Given the description of an element on the screen output the (x, y) to click on. 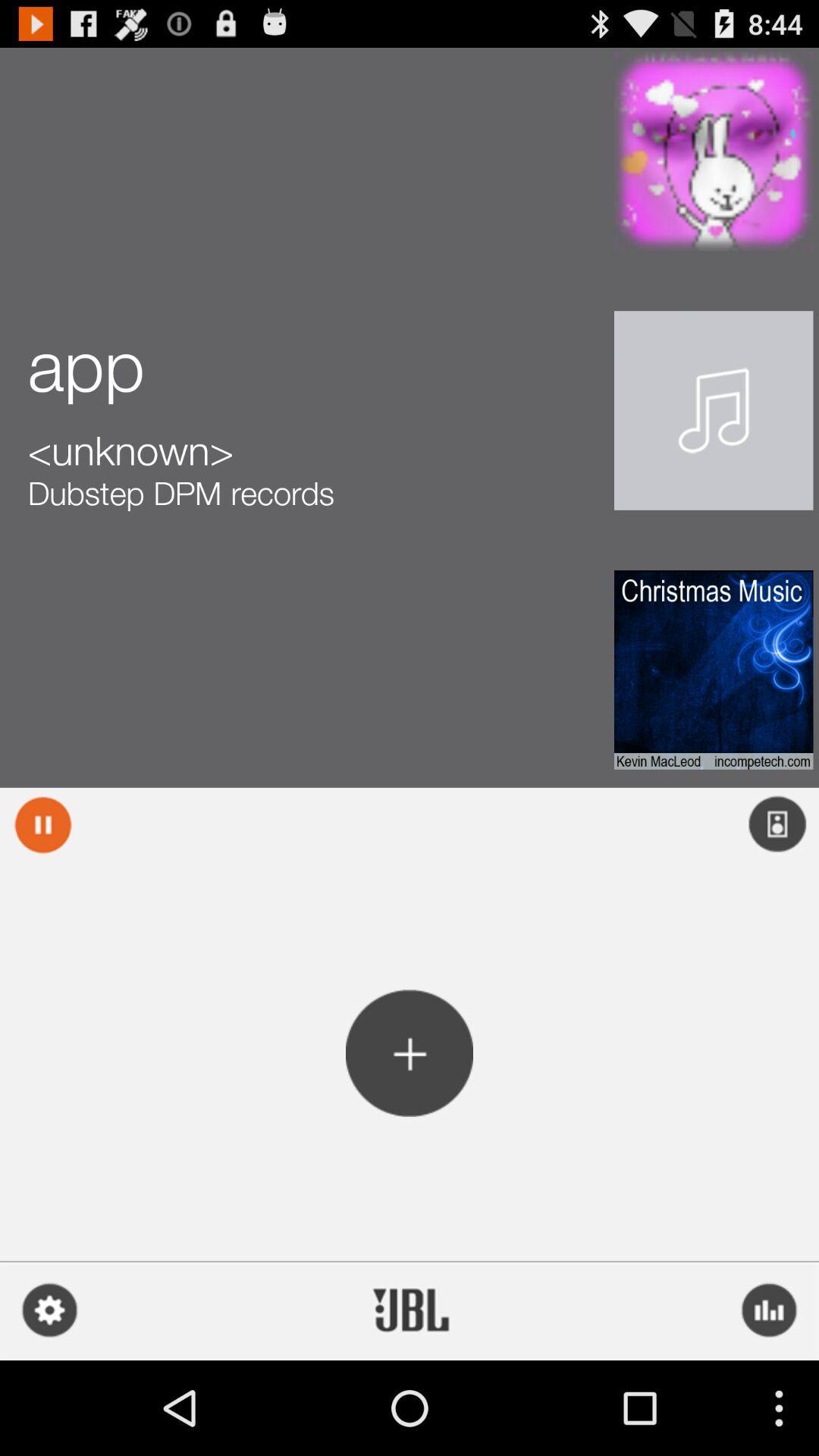
select the pause icon which is of orange color (43, 824)
